Given the description of an element on the screen output the (x, y) to click on. 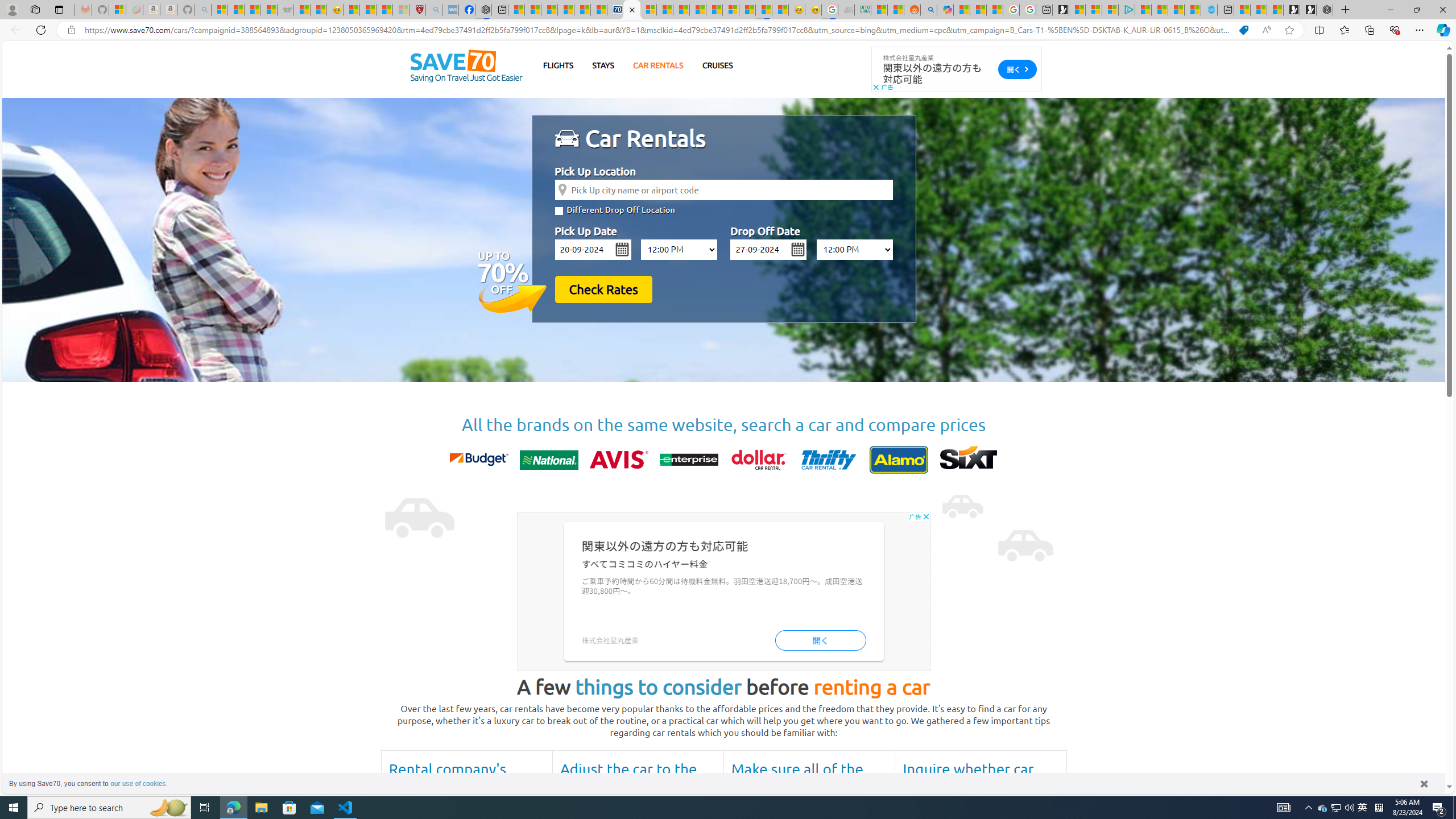
mm/dd/yy (768, 249)
FLIGHTS (558, 65)
dollar (758, 459)
national (548, 459)
